Given the description of an element on the screen output the (x, y) to click on. 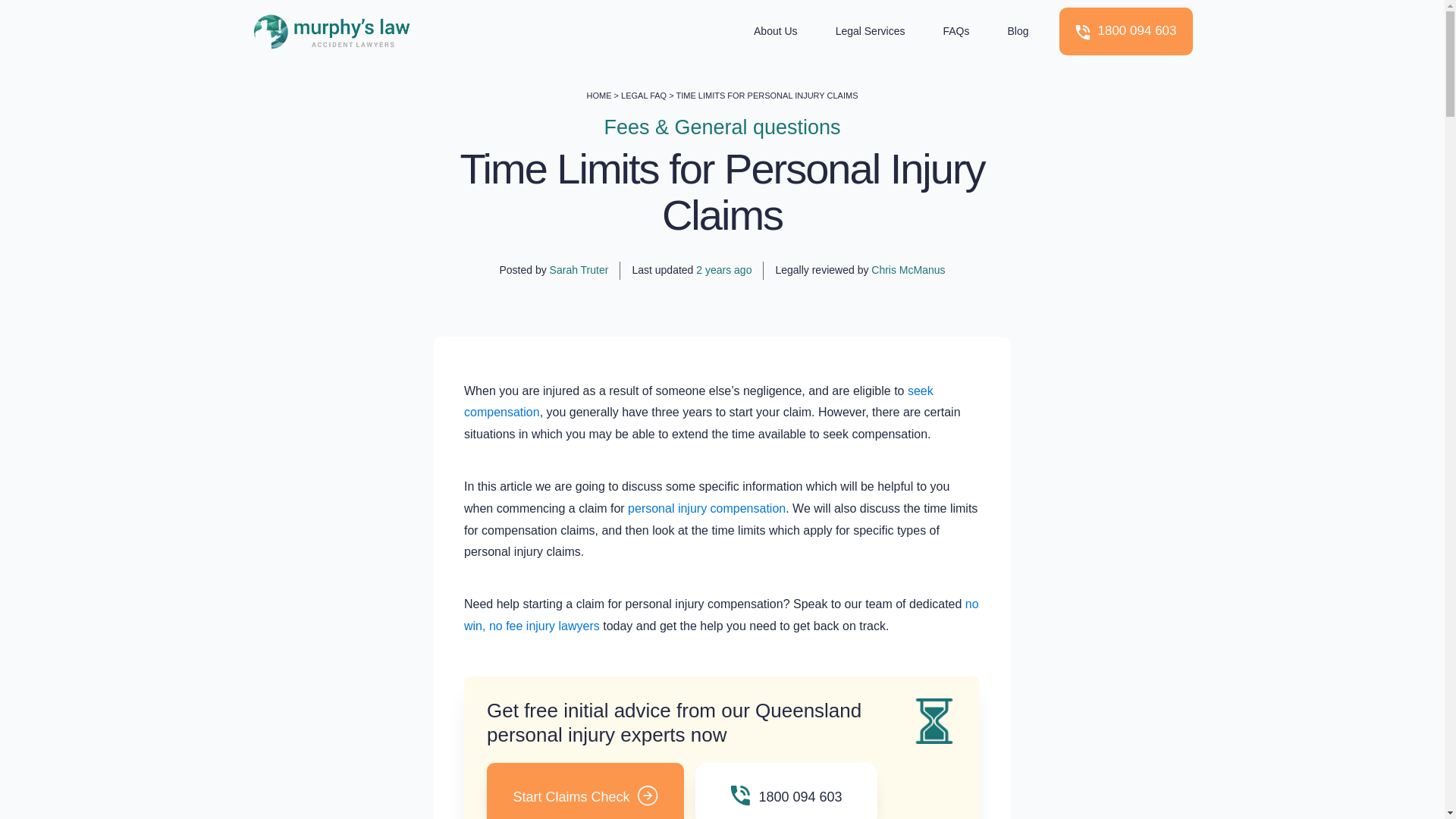
FAQs (955, 31)
Legal Services (870, 31)
About Us (775, 31)
Blog (1017, 31)
no win, no fee injury lawyers (721, 614)
Sarah Truter (579, 269)
personal injury compensation (706, 508)
Start Claims Check (585, 790)
1800 094 603 (1125, 31)
1800 094 603 (786, 790)
seek compensation (698, 401)
